Given the description of an element on the screen output the (x, y) to click on. 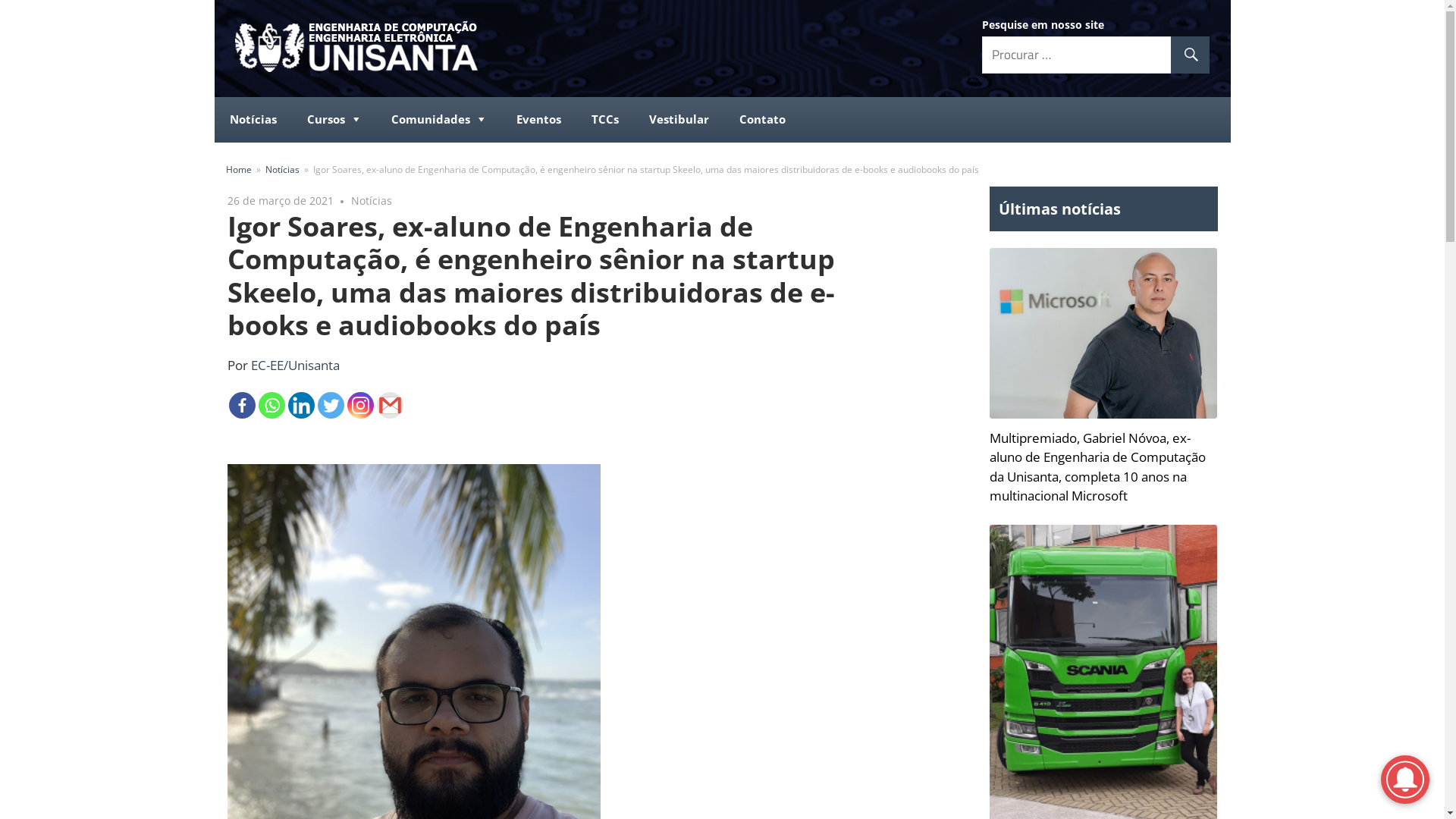
Facebook Element type: hover (242, 405)
Google Gmail Element type: hover (389, 405)
Contato Element type: text (761, 119)
Whatsapp Element type: hover (270, 405)
EC-EE/Unisanta Element type: text (294, 364)
Instagram Element type: hover (360, 405)
Cursos Element type: text (333, 119)
Linkedin Element type: hover (301, 405)
Home Element type: text (238, 169)
Comunidades Element type: text (438, 119)
Twitter Element type: hover (329, 405)
Eventos Element type: text (537, 119)
Vestibular Element type: text (678, 119)
TCCs Element type: text (604, 119)
